Given the description of an element on the screen output the (x, y) to click on. 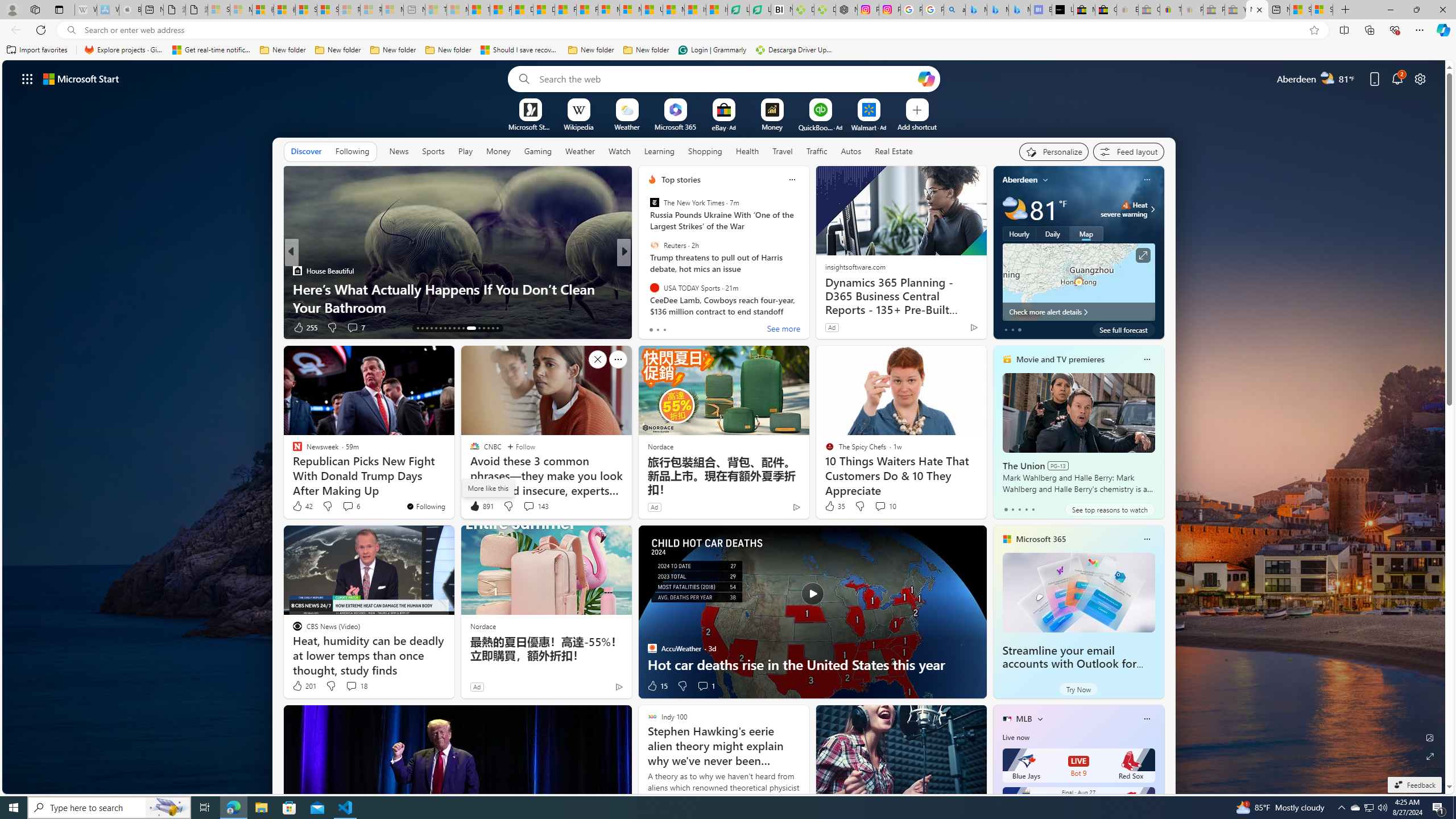
Streamline your email accounts with Outlook for Windows (1069, 664)
18 Low-Class Behaviors To Ditch Immediately (807, 307)
Streamline your email accounts with Outlook for Windows (1077, 592)
Import favorites (36, 49)
IT Concept (658, 288)
This story is trending (951, 329)
15 Like (657, 685)
AutomationID: tab-18 (440, 328)
AutomationID: tab-17 (435, 328)
tab-4 (1032, 509)
